Given the description of an element on the screen output the (x, y) to click on. 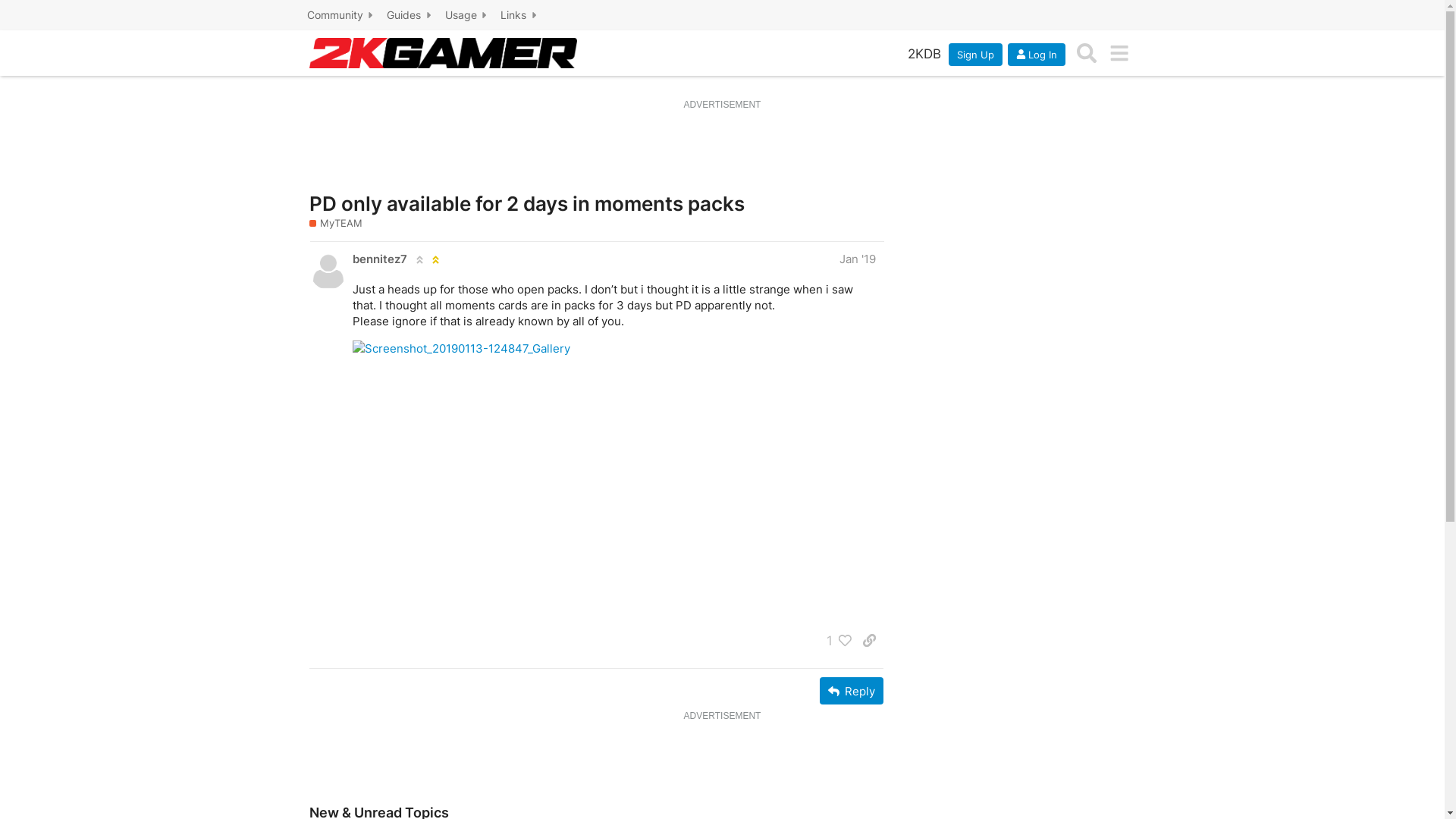
Reply Element type: text (850, 690)
1 Element type: text (835, 639)
Usage Element type: text (467, 15)
Log In Element type: text (1036, 53)
Links Element type: text (520, 15)
Advertisement Element type: hover (721, 147)
Screenshot_20190113-124847_Gallery.jpg Element type: hover (613, 467)
Visited 365 consecutive days Element type: hover (435, 258)
Active member for a year, posted at least once Element type: hover (418, 258)
MyTEAM Element type: text (335, 222)
PD only available for 2 days in moments packs Element type: text (526, 203)
Jan '19 Element type: text (856, 258)
2KDB Element type: text (924, 52)
Search Element type: hover (1086, 53)
menu Element type: hover (1119, 53)
Community Element type: text (341, 15)
Advertisement Element type: hover (721, 759)
Guides Element type: text (410, 15)
Sign Up Element type: text (975, 53)
bennitez7 Element type: text (378, 258)
share a link to this post Element type: hover (869, 639)
